Given the description of an element on the screen output the (x, y) to click on. 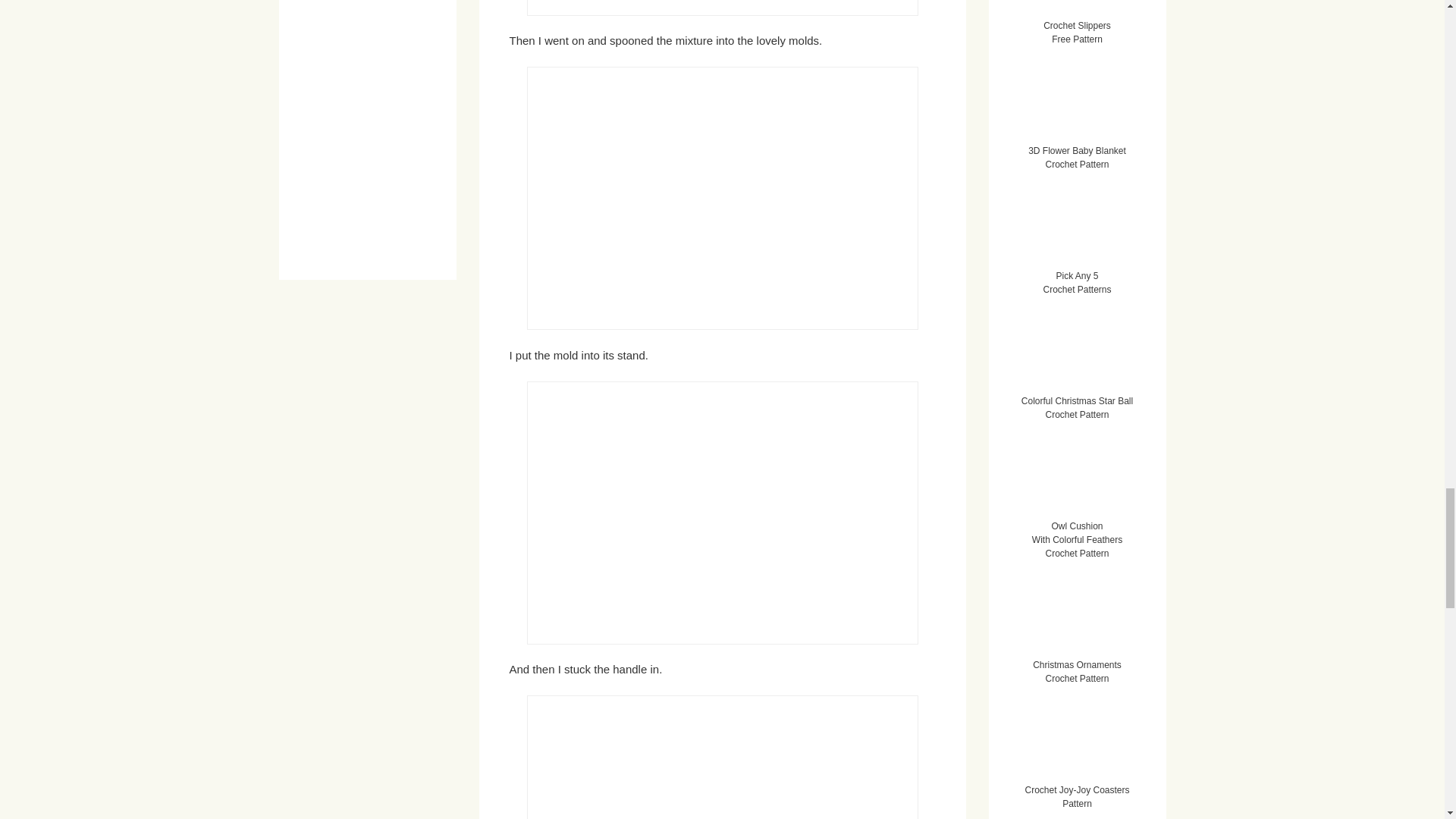
homemade-frozen-yogurt (721, 512)
frozen-strawberry-yogurt (721, 7)
popsicle-picture (721, 198)
